Given the description of an element on the screen output the (x, y) to click on. 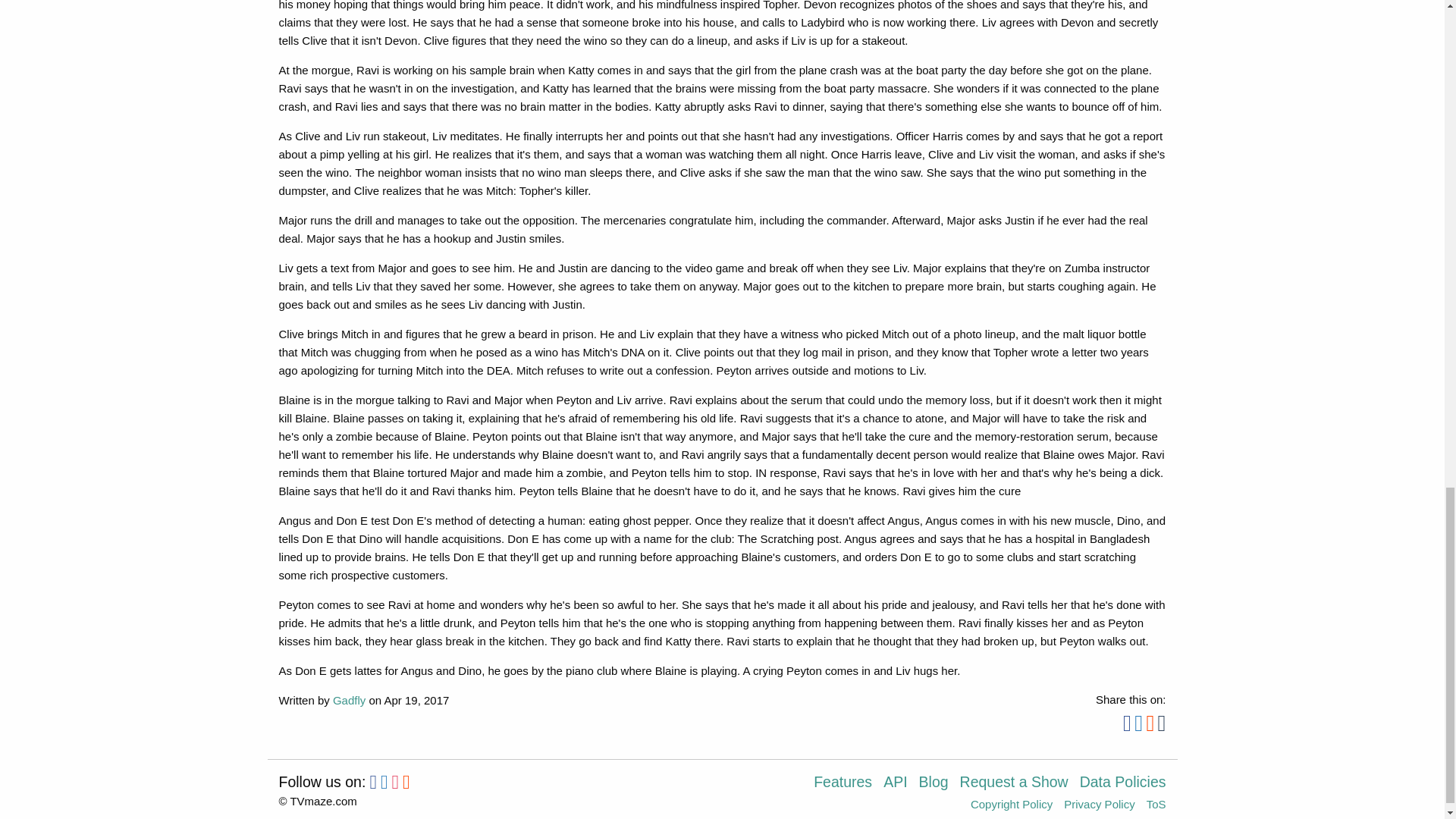
API (900, 786)
Blog (938, 786)
Features (848, 786)
copyright tvmaze.com (317, 800)
Data Policies (1123, 786)
Request a Show (1019, 786)
Gadfly (349, 699)
